Given the description of an element on the screen output the (x, y) to click on. 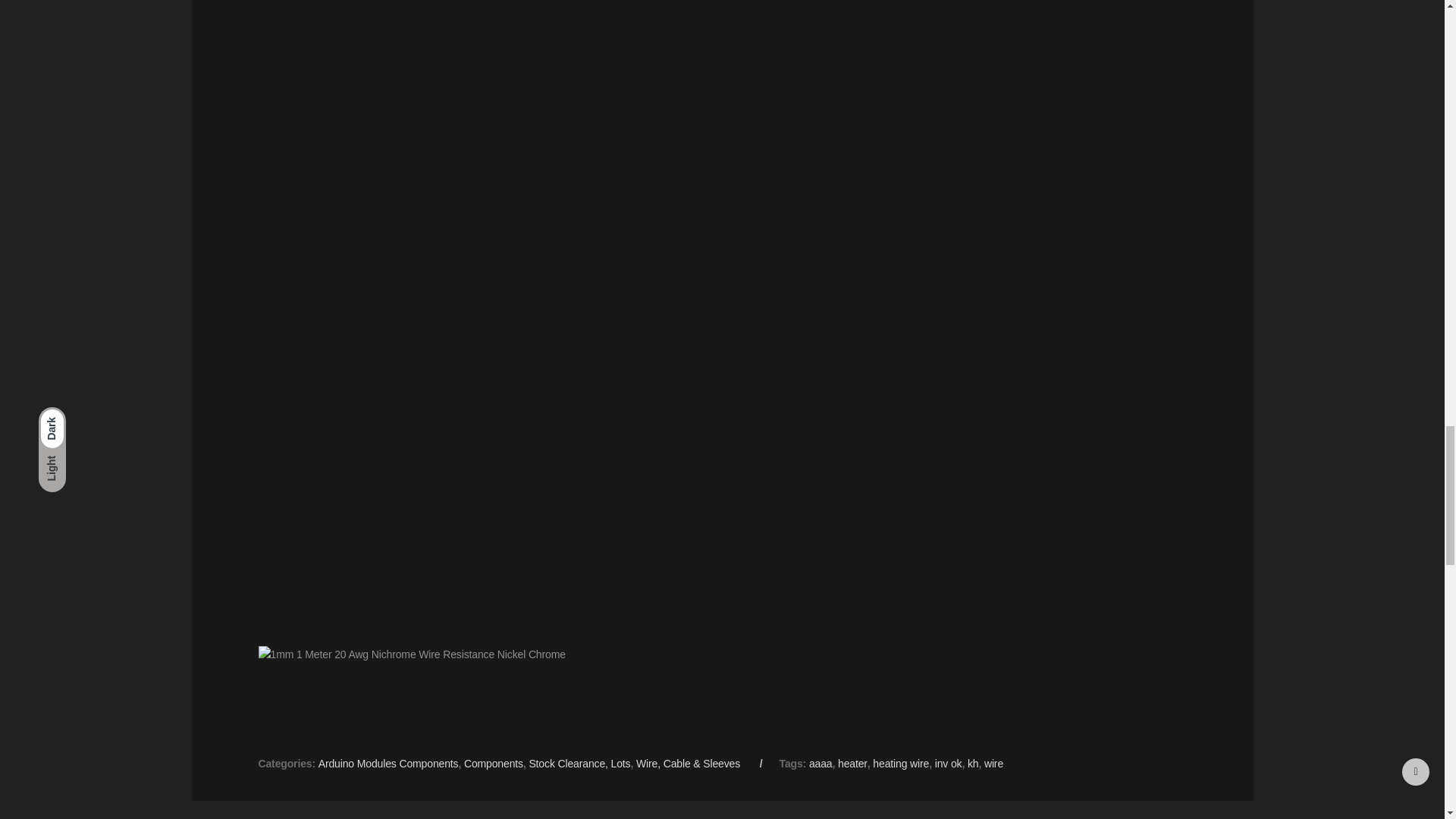
Stock Clearance, Lots (579, 763)
Arduino Modules Components (388, 763)
Components (493, 763)
